Given the description of an element on the screen output the (x, y) to click on. 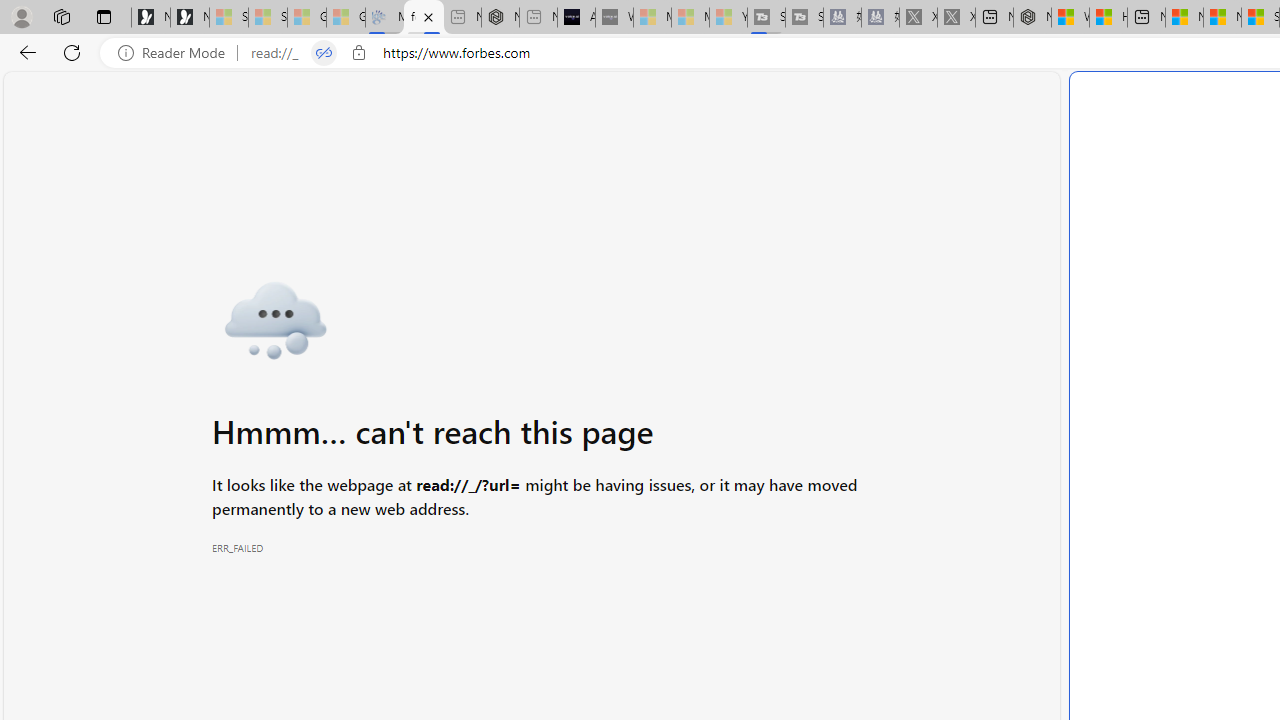
Microsoft Start - Sleeping (690, 17)
